Given the description of an element on the screen output the (x, y) to click on. 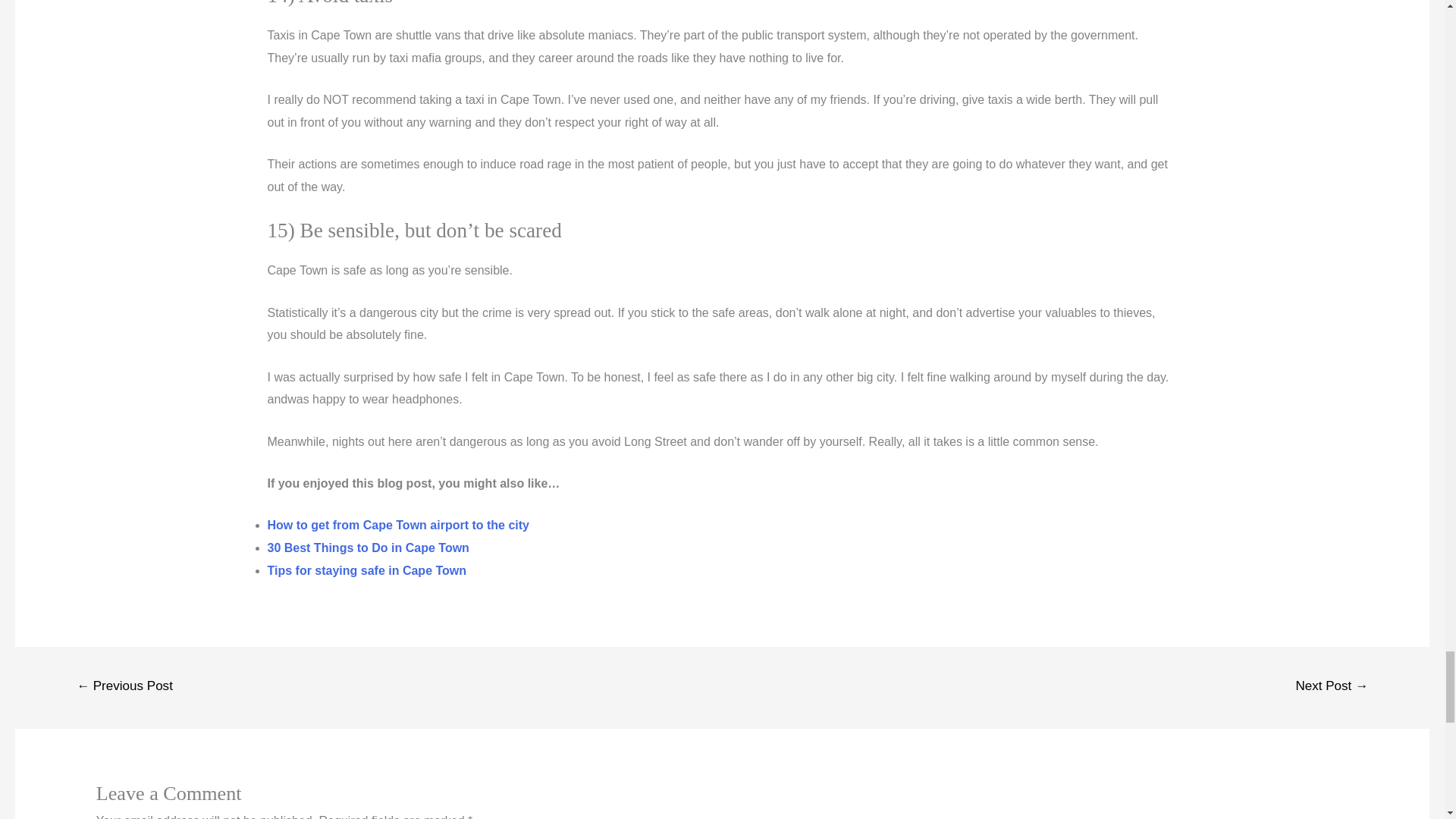
Tips for staying safe in Cape Town (365, 570)
How to get from Cape Town airport to the city  (399, 524)
30 Best Things to Do in Cape Town  (368, 547)
